Given the description of an element on the screen output the (x, y) to click on. 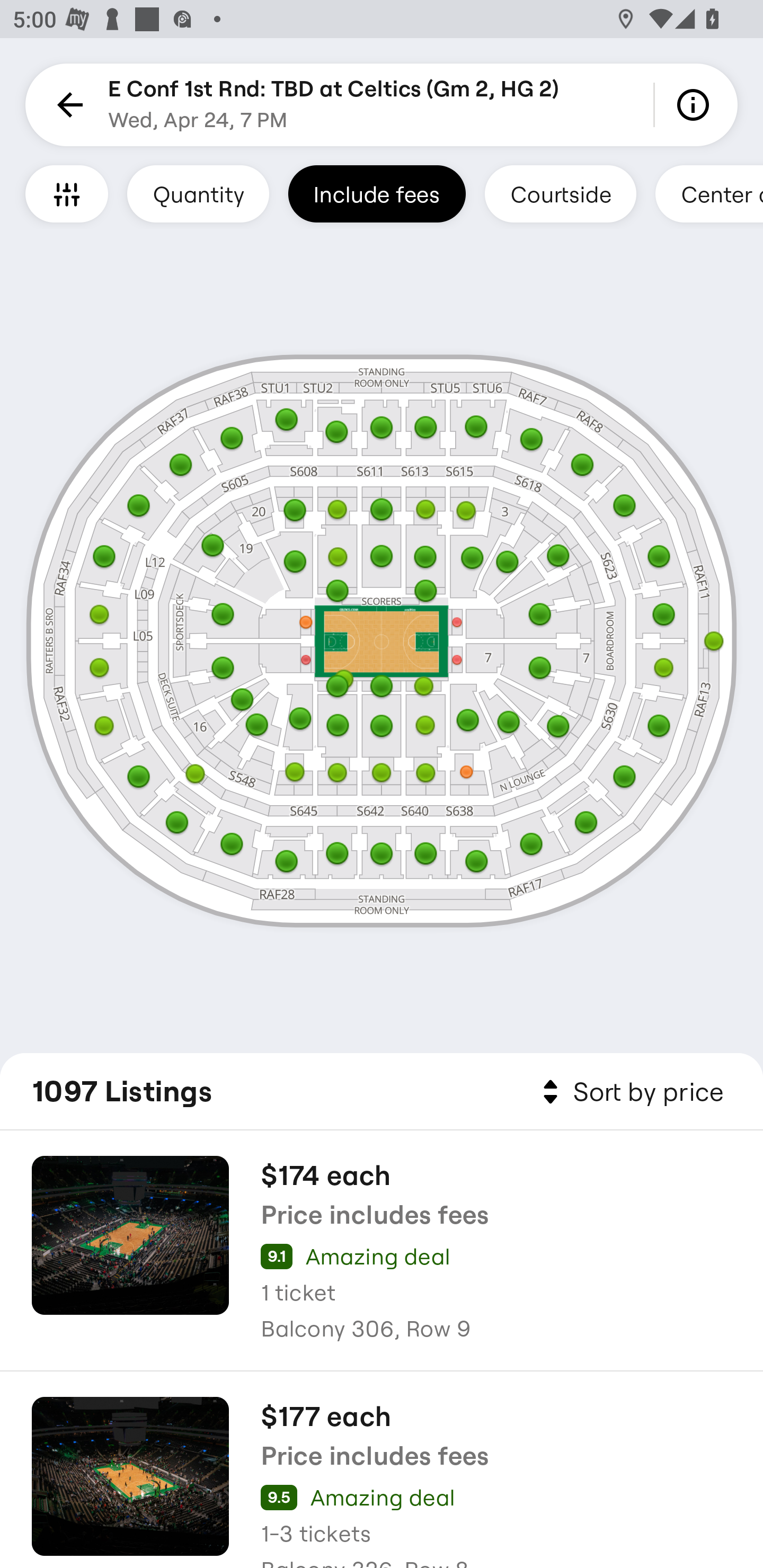
Back (66, 104)
Info (695, 104)
Filters and Accessible Seating (66, 193)
Quantity (198, 193)
Include fees (376, 193)
Courtside (560, 193)
Center court (709, 193)
Sort by price (629, 1091)
